Given the description of an element on the screen output the (x, y) to click on. 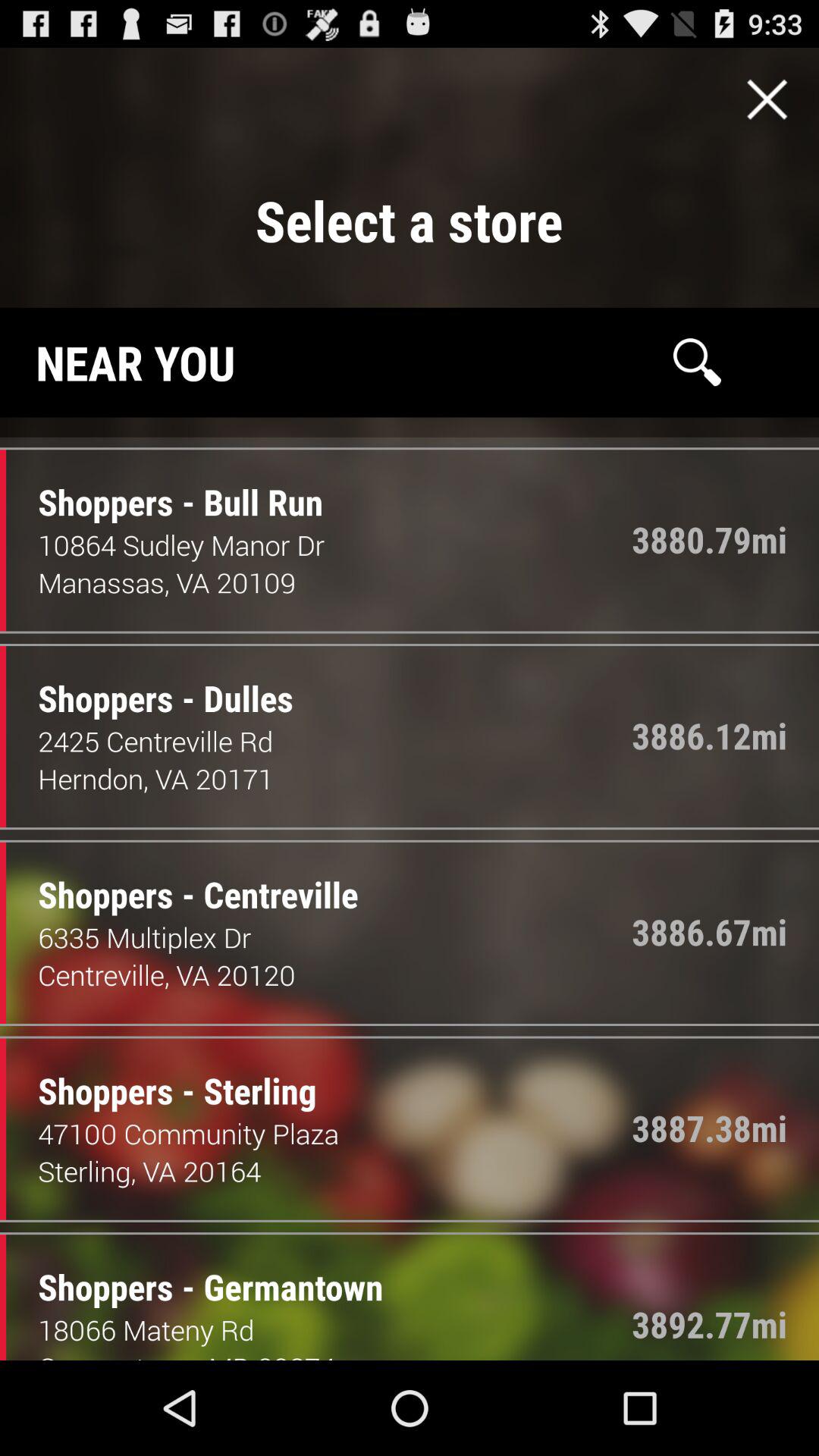
launch item to the right of 18066 mateny rd (709, 1324)
